Given the description of an element on the screen output the (x, y) to click on. 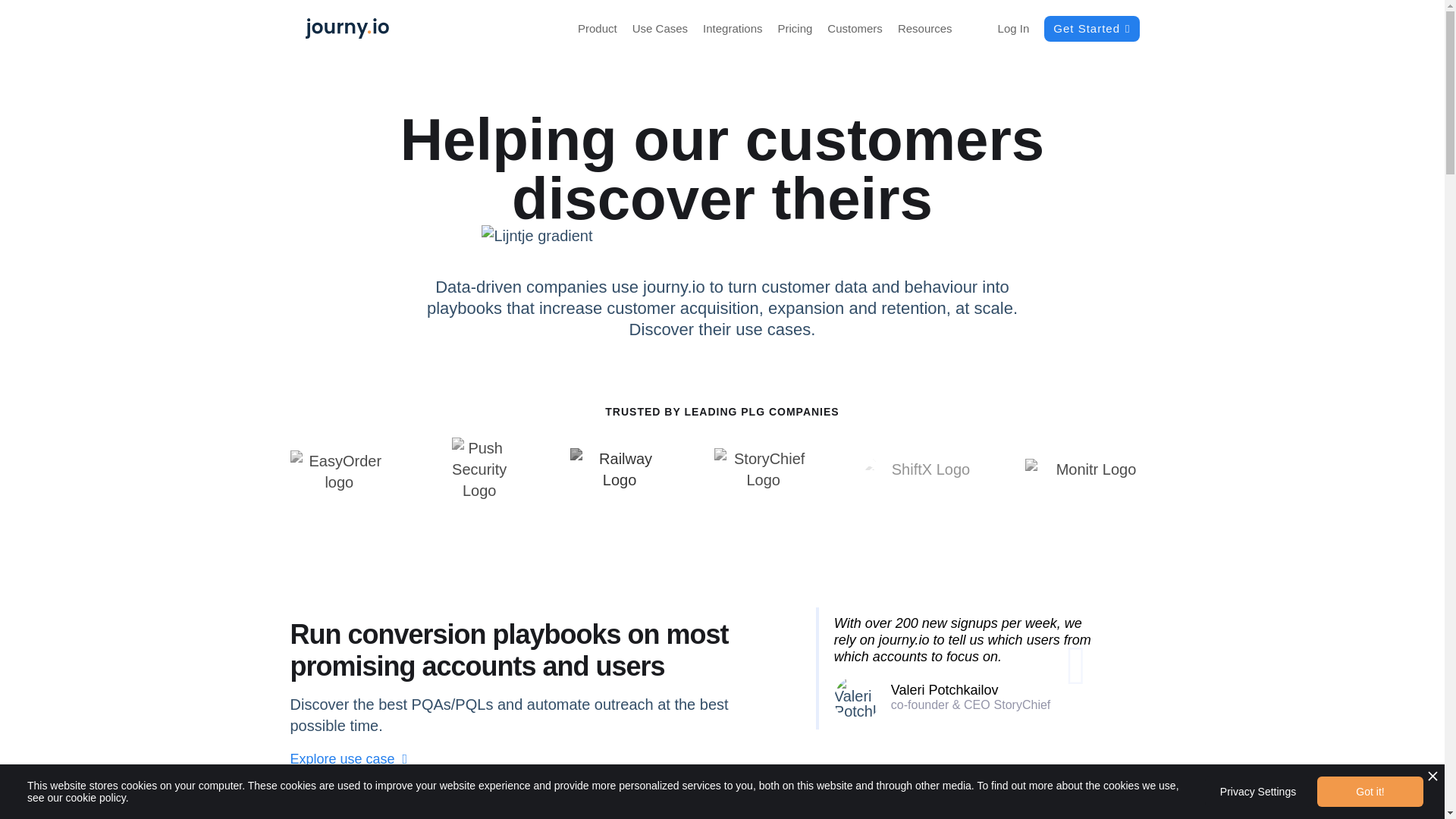
Customers (854, 28)
Log In (1013, 28)
Pricing (794, 28)
Integrations (732, 28)
Use Cases (659, 28)
Product (597, 28)
